Given the description of an element on the screen output the (x, y) to click on. 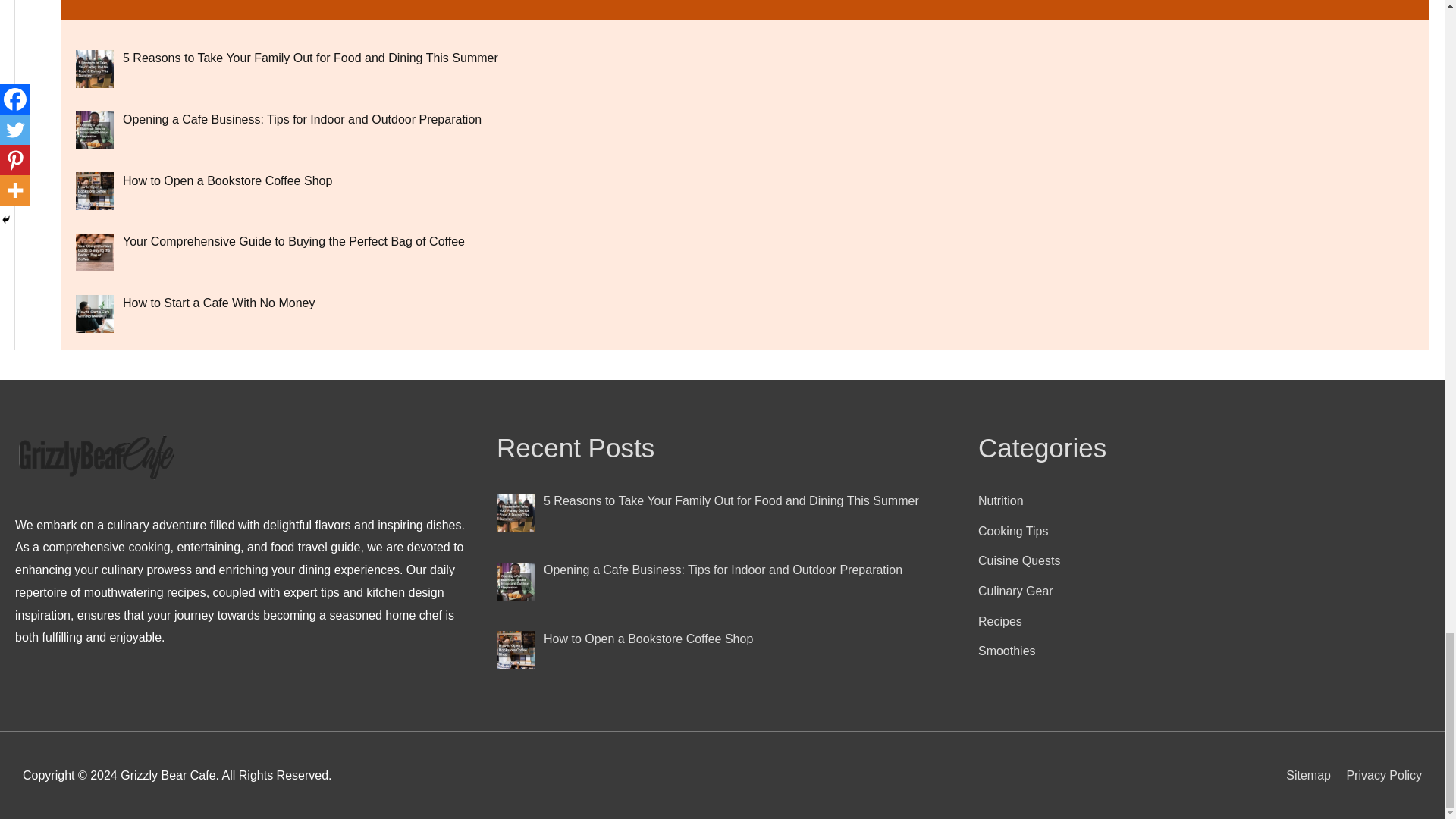
How to Start a Cafe With No Money (218, 302)
How to Open a Bookstore Coffee Shop (226, 180)
Your Comprehensive Guide to Buying the Perfect Bag of Coffee (293, 241)
